Given the description of an element on the screen output the (x, y) to click on. 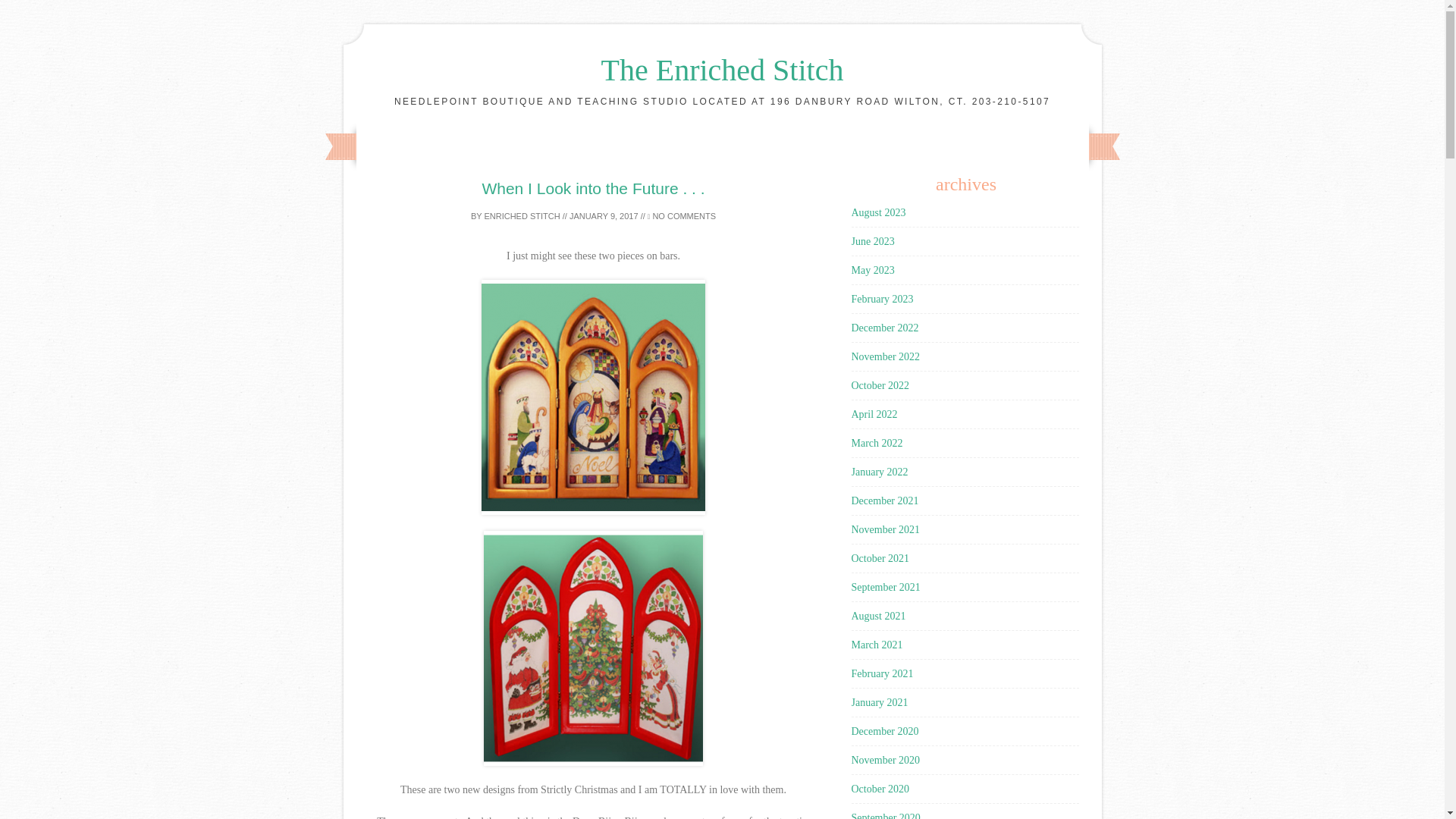
November 2020 (885, 759)
March 2021 (876, 644)
March 2022 (876, 442)
November 2022 (885, 356)
The Enriched Stitch (722, 69)
ENRICHED STITCH (521, 215)
February 2021 (881, 673)
May 2023 (871, 270)
November 2021 (885, 529)
